Given the description of an element on the screen output the (x, y) to click on. 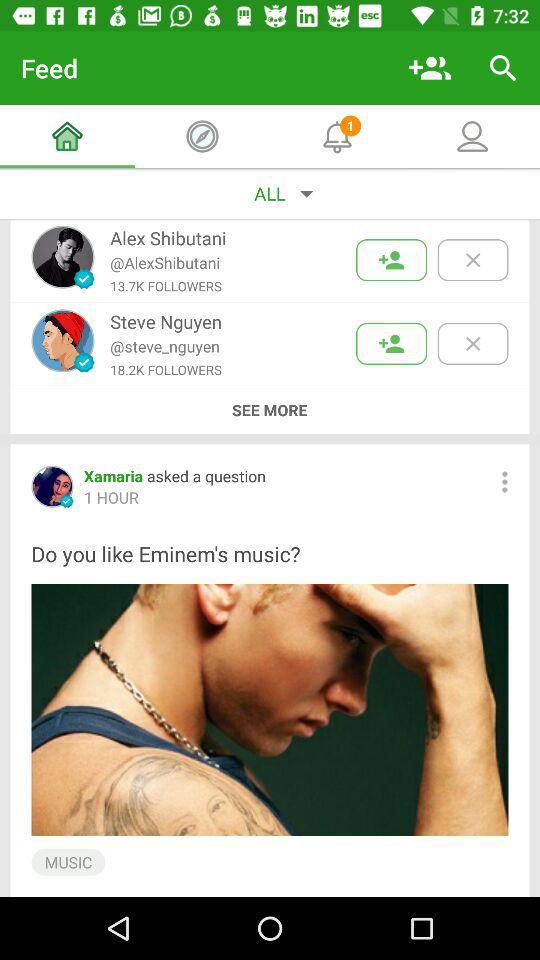
open menu (504, 481)
